Given the description of an element on the screen output the (x, y) to click on. 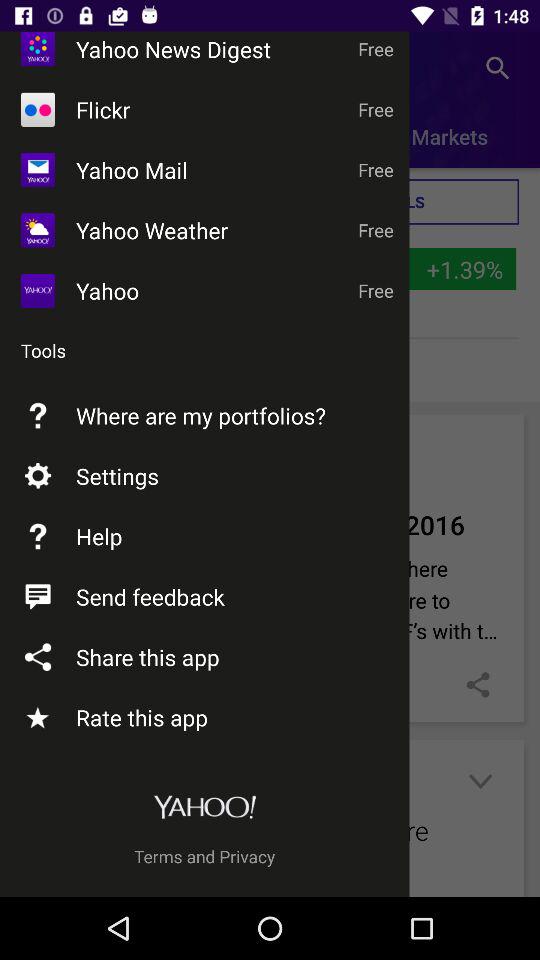
click on terms and privacy (204, 856)
